Given the description of an element on the screen output the (x, y) to click on. 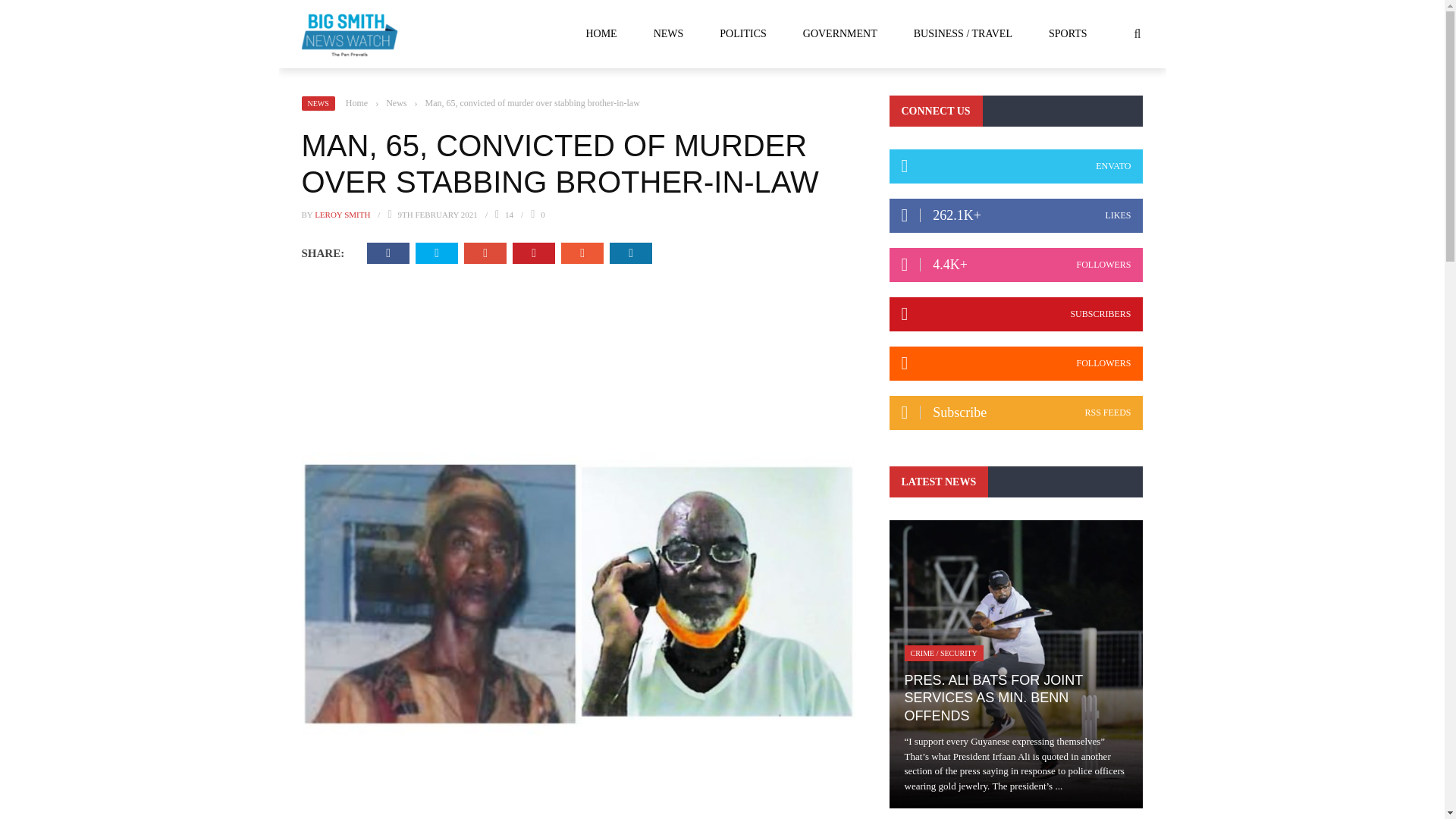
Pinterest (533, 252)
HOME (600, 33)
Home (357, 102)
Linkedin (630, 252)
NEWS (667, 33)
Stumbleupon (582, 252)
Google Plus (485, 252)
Facebook (387, 252)
POLITICS (742, 33)
LEROY SMITH (341, 214)
NEWS (317, 103)
Twitter (436, 252)
GOVERNMENT (839, 33)
SPORTS (1067, 33)
News (395, 102)
